Given the description of an element on the screen output the (x, y) to click on. 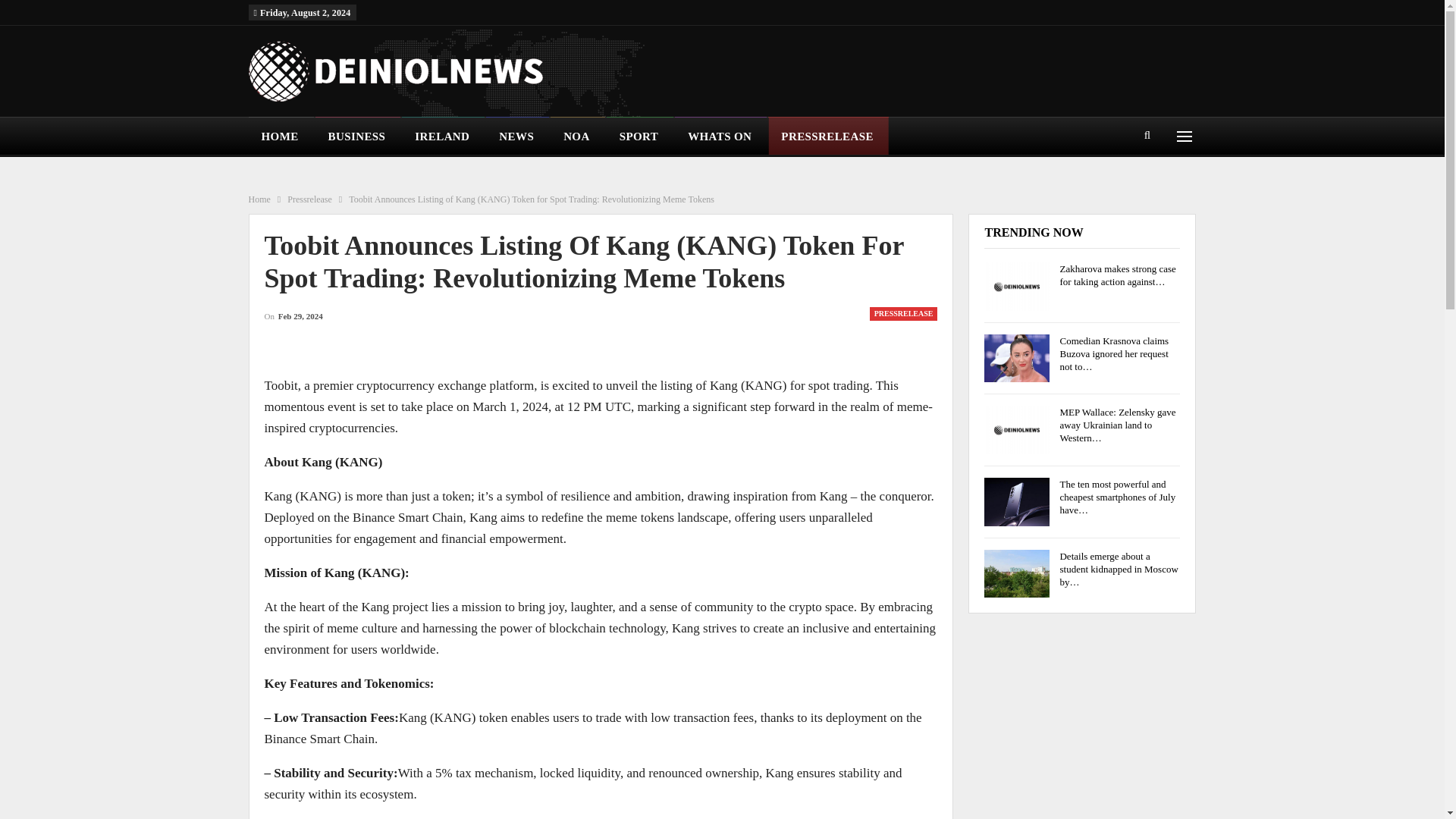
WHATS ON (721, 136)
NEWS (517, 136)
PRESSRELEASE (903, 314)
PRESSRELEASE (828, 136)
BUSINESS (358, 136)
HOME (281, 136)
SPORT (639, 136)
Pressrelease (308, 199)
IRELAND (442, 136)
NOA (577, 136)
